Given the description of an element on the screen output the (x, y) to click on. 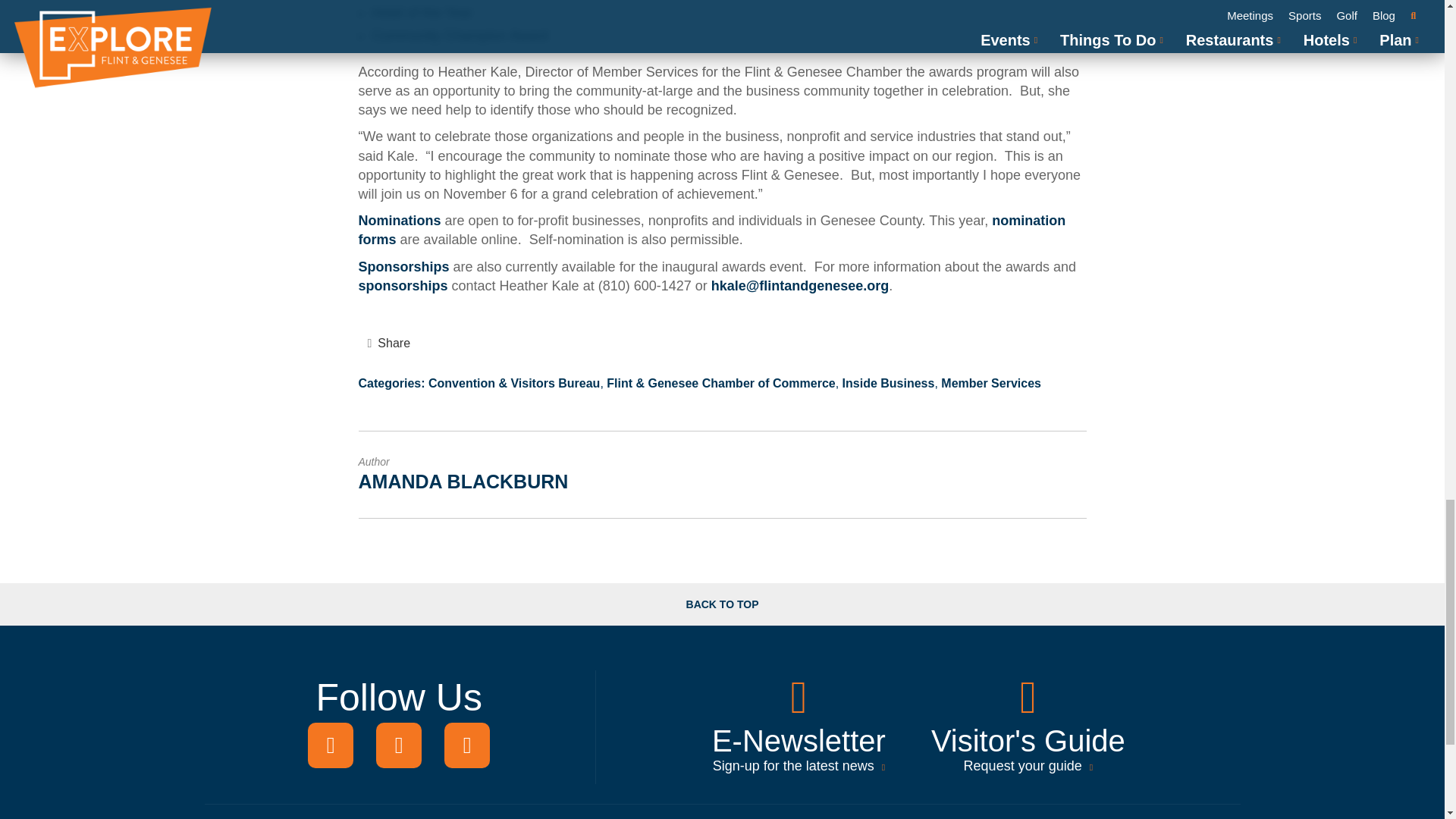
Visit our instagram page (398, 745)
Visit our facebook page (330, 745)
Visit our linkedin page (466, 745)
